Given the description of an element on the screen output the (x, y) to click on. 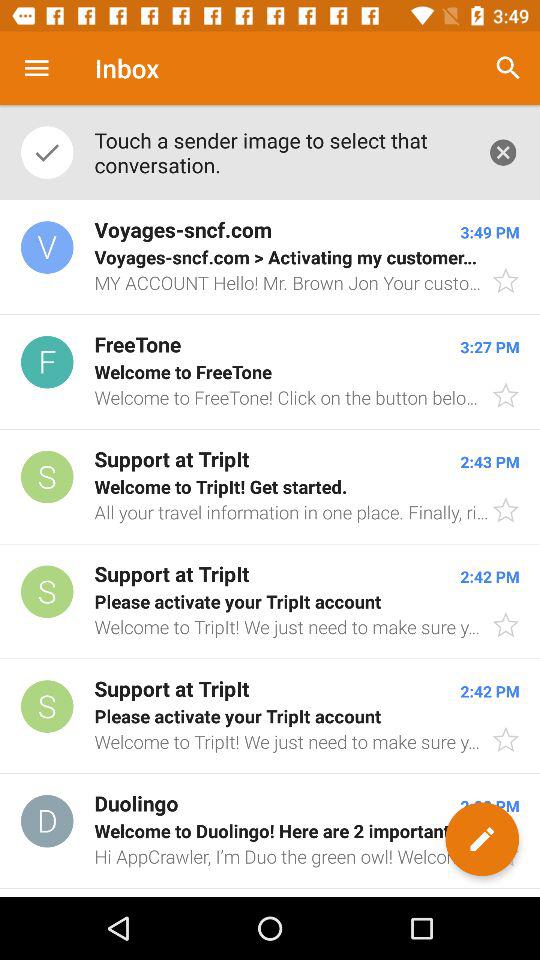
turn on the item at the bottom right corner (482, 839)
